Given the description of an element on the screen output the (x, y) to click on. 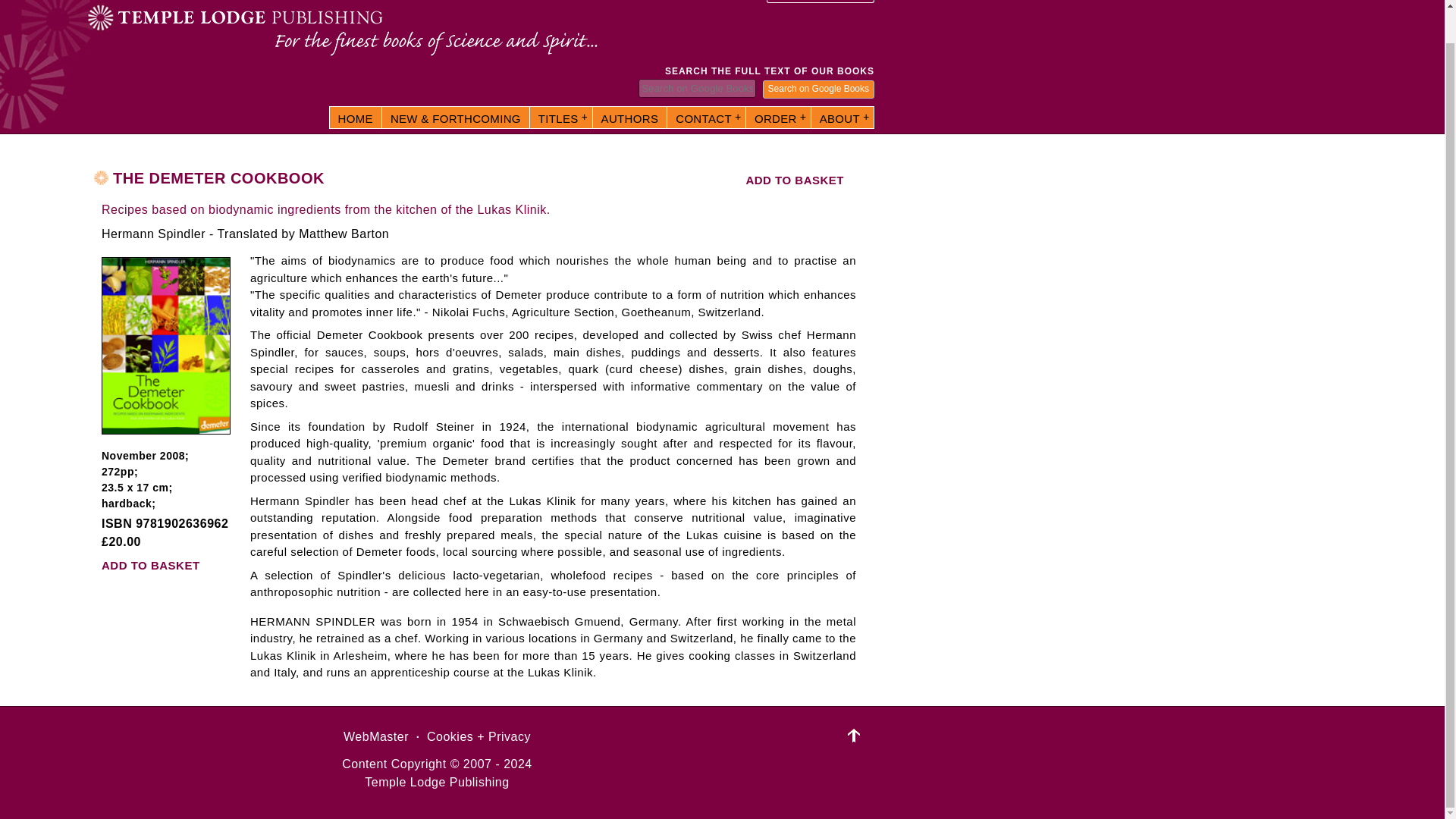
TITLES (560, 117)
ADD TO BASKET (150, 564)
AUTHORS (629, 117)
Search on Google Books (818, 89)
CONTACT (705, 117)
HOME (355, 117)
ORDER (777, 117)
WebMaster (376, 736)
ADD TO BASKET (794, 179)
Search on Google Books (818, 89)
ABOUT (841, 117)
Go to the top of the page (853, 734)
